Given the description of an element on the screen output the (x, y) to click on. 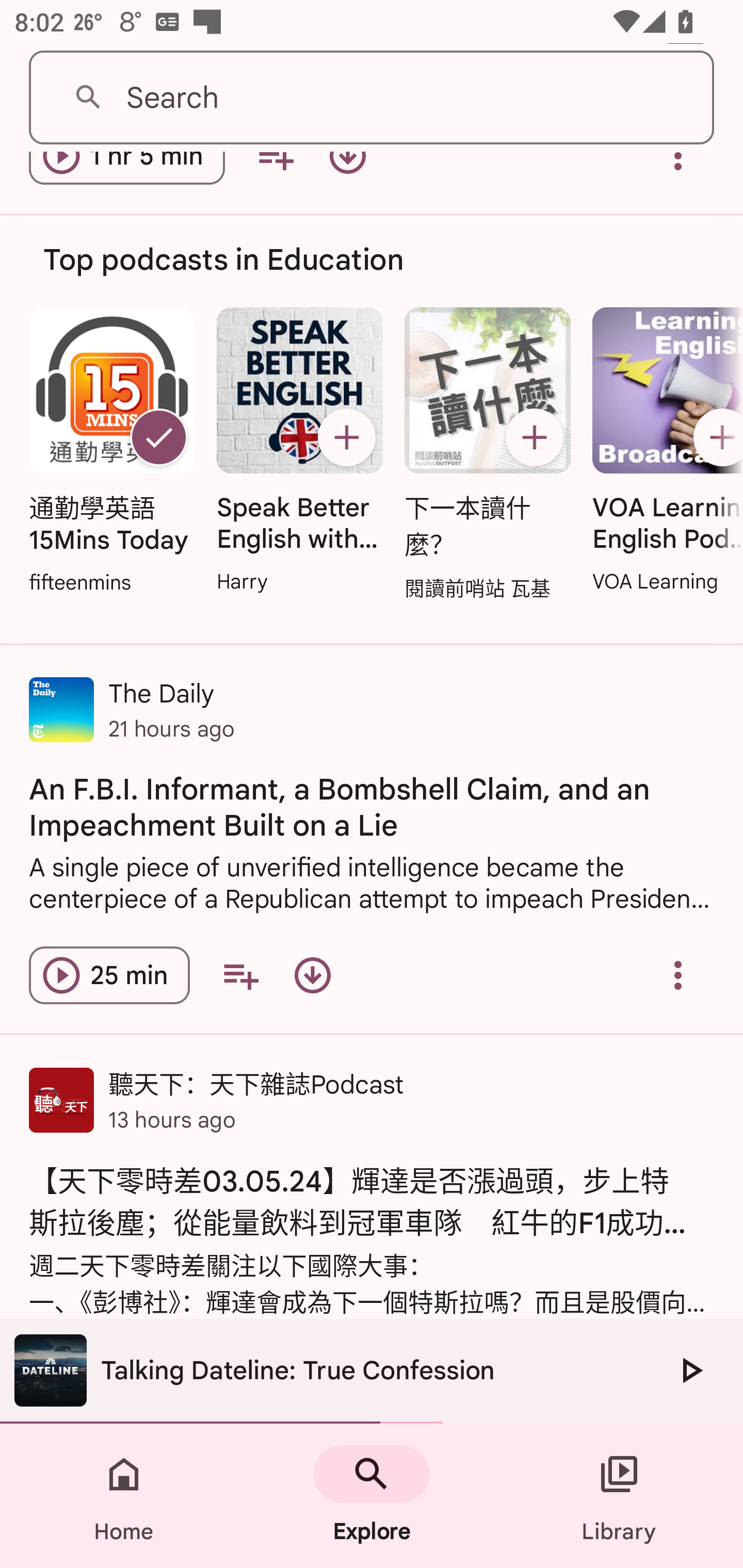
Search (371, 97)
下一本讀什麼？ Subscribe 下一本讀什麼？ 閱讀前哨站 瓦基 (487, 455)
Unsubscribe (158, 437)
Subscribe (346, 437)
Subscribe (534, 437)
Subscribe (714, 437)
Add to your queue (240, 975)
Download episode (312, 975)
Overflow menu (677, 975)
Play (690, 1370)
Home (123, 1495)
Library (619, 1495)
